Given the description of an element on the screen output the (x, y) to click on. 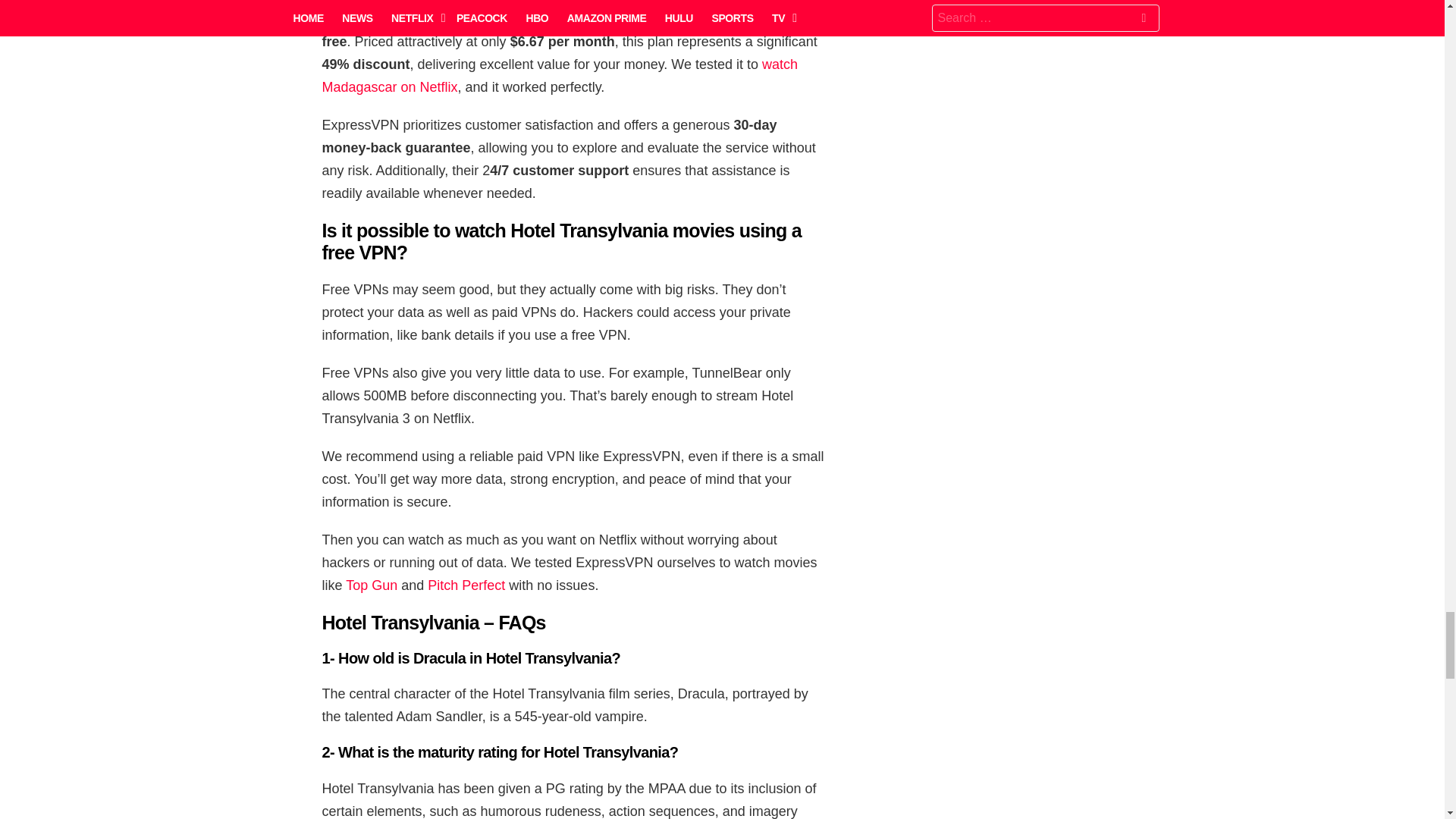
Pitch Perfect (466, 585)
watch Madagascar on Netflix (559, 75)
Top Gun (371, 585)
